Given the description of an element on the screen output the (x, y) to click on. 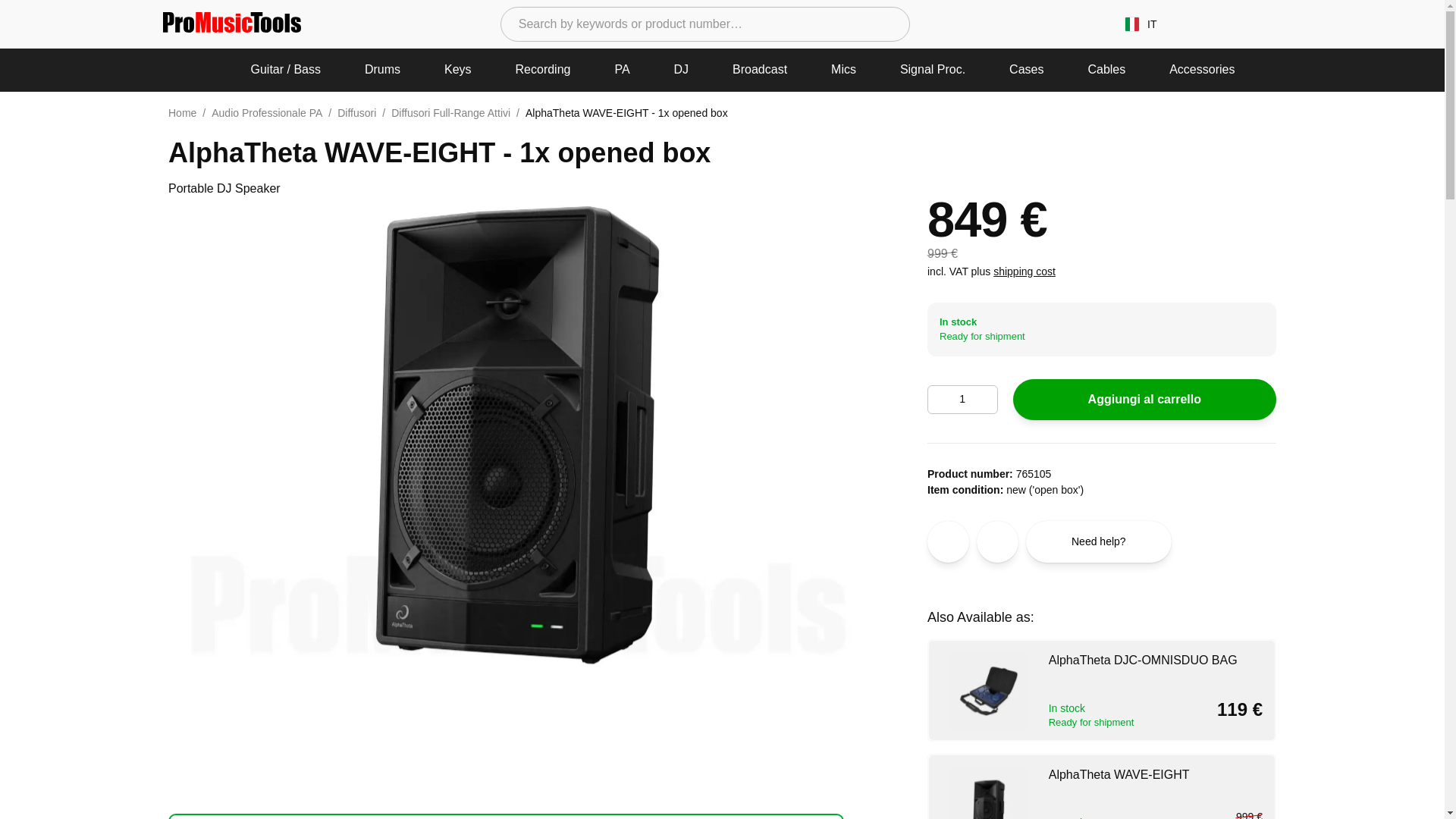
Recording (542, 69)
Accessories (1201, 69)
Signal Proc. (932, 69)
DJ (681, 69)
Need help? (1099, 541)
Aggiungi ai desideri (948, 541)
Broadcast (759, 69)
Cables (1106, 69)
Mics (843, 69)
PA (622, 69)
Drums (382, 69)
Open share tab (996, 541)
Keys (457, 69)
IT (1140, 24)
Cases (1026, 69)
